Given the description of an element on the screen output the (x, y) to click on. 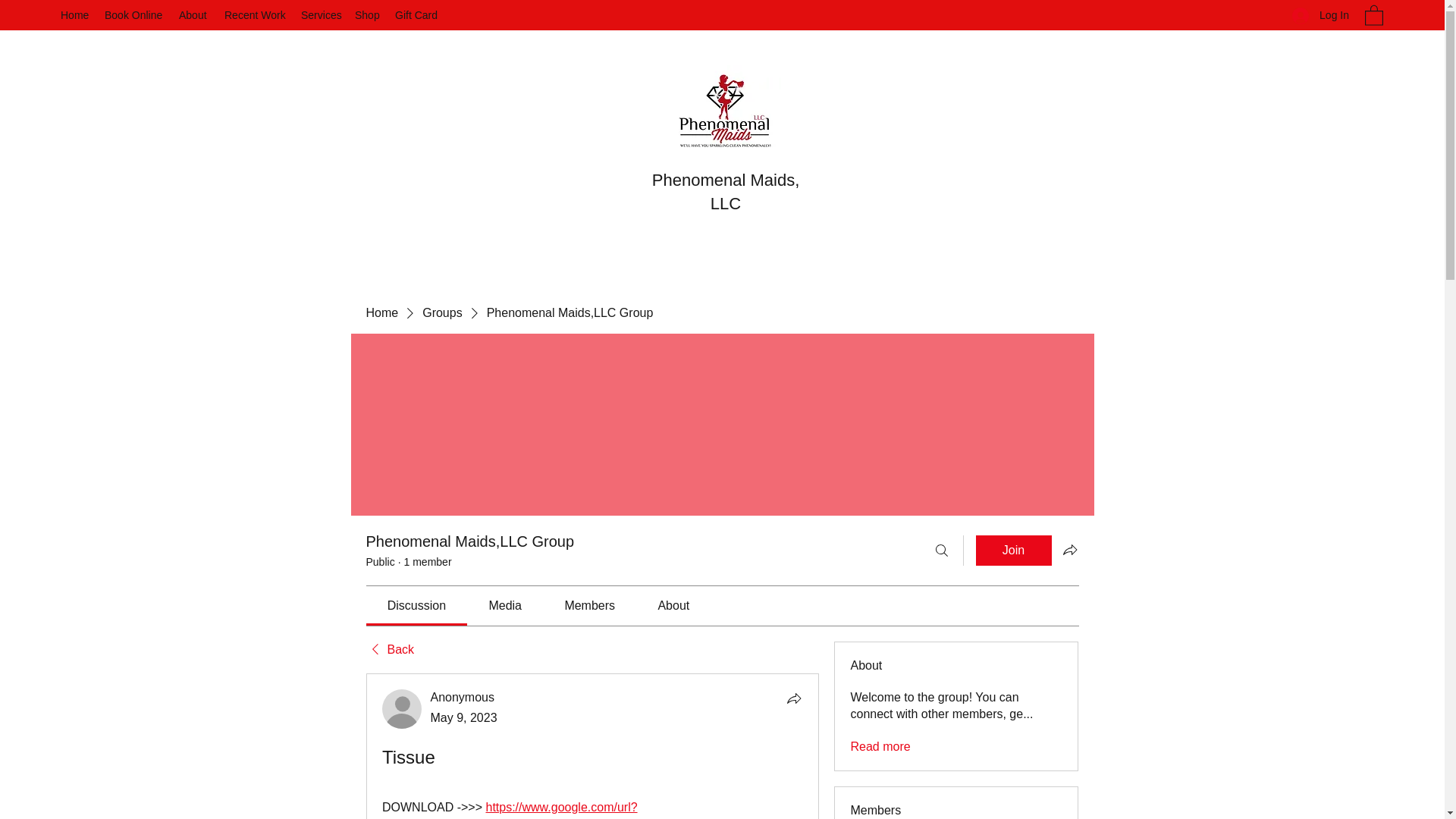
Anonymous (462, 697)
Recent Work (255, 15)
Join (1013, 550)
May 9, 2023 (463, 717)
Shop (367, 15)
Read more (880, 746)
Back (389, 649)
Book Online (134, 15)
Anonymous (401, 708)
Groups (441, 312)
